Given the description of an element on the screen output the (x, y) to click on. 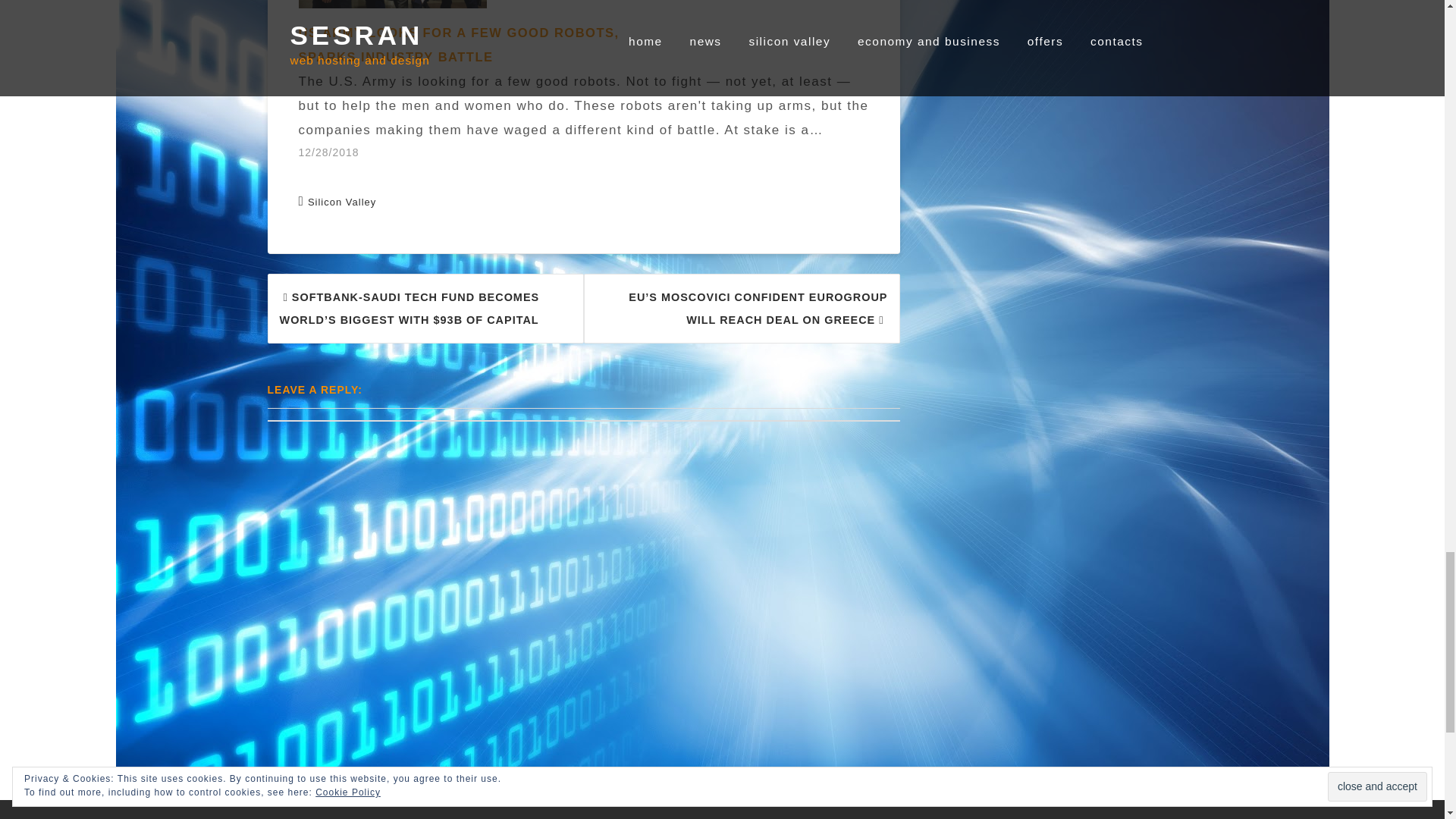
Silicon Valley (341, 202)
US ARMY LOOKS FOR A FEW GOOD ROBOTS, SPARKS INDUSTRY BATTLE (459, 44)
US Army Looks for a Few Good Robots, Sparks Industry Battle (459, 44)
US Army Looks for a Few Good Robots, Sparks Industry Battle (590, 91)
